Given the description of an element on the screen output the (x, y) to click on. 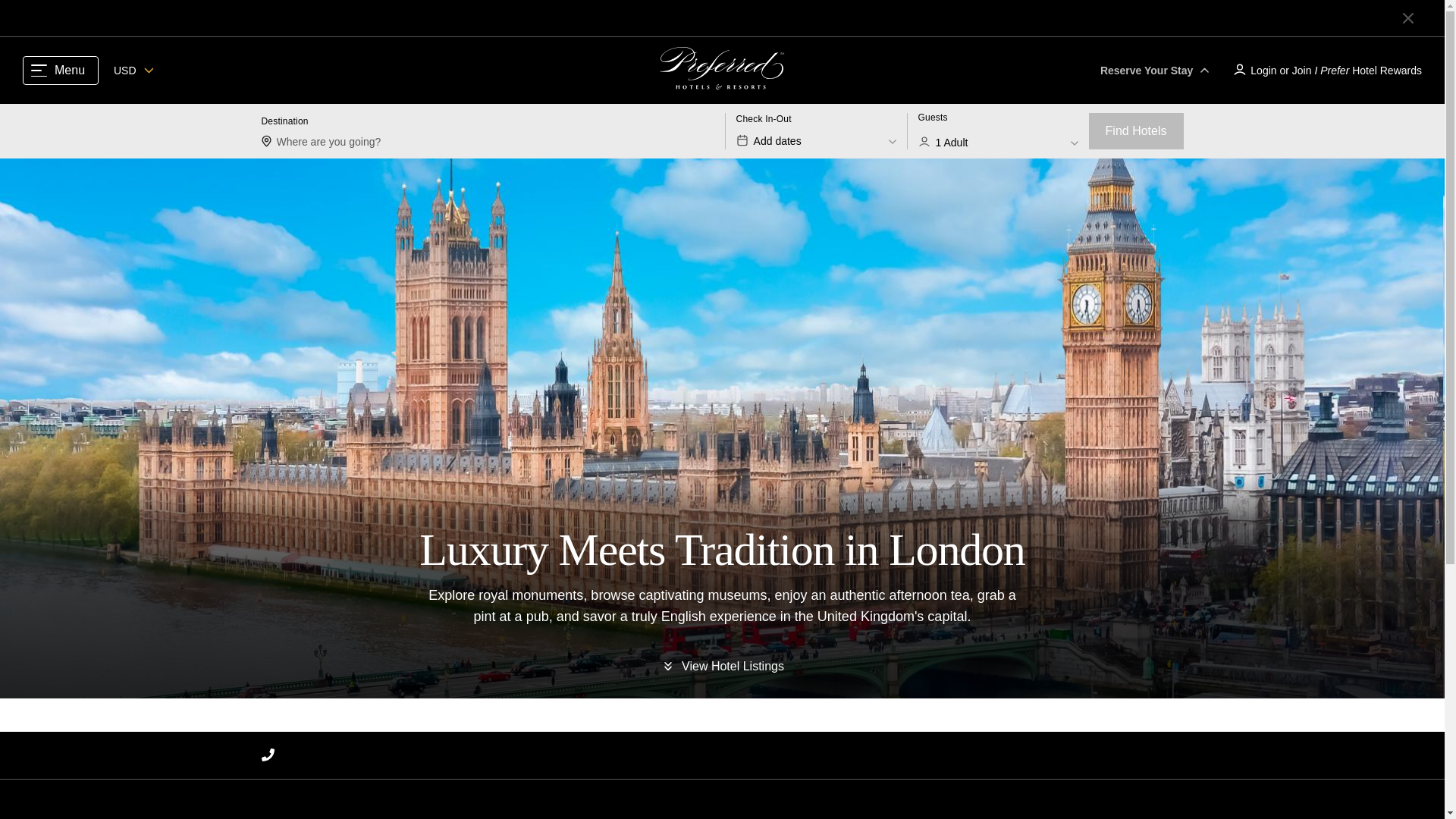
Login or Join I Prefer Hotel Rewards (816, 131)
View Hotel Listings (998, 131)
Menu (1325, 70)
Find Hotels (722, 666)
Reserve Your Stay (61, 70)
